Given the description of an element on the screen output the (x, y) to click on. 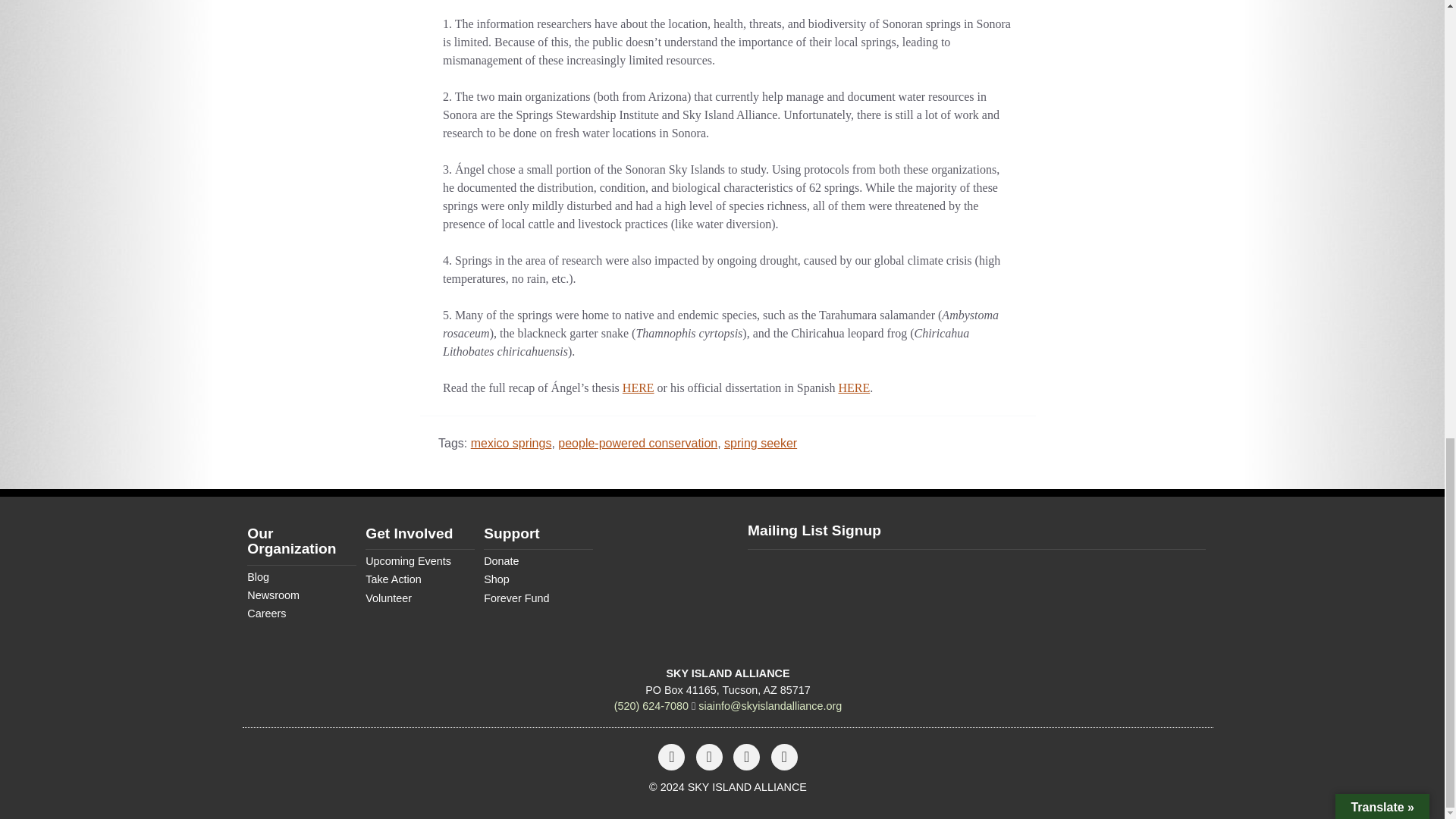
visit our facebook page (670, 757)
Phone Us (651, 705)
visit our linked in page (784, 757)
email us (769, 705)
visit our instagram page (709, 757)
visit our youtube page (745, 757)
